Given the description of an element on the screen output the (x, y) to click on. 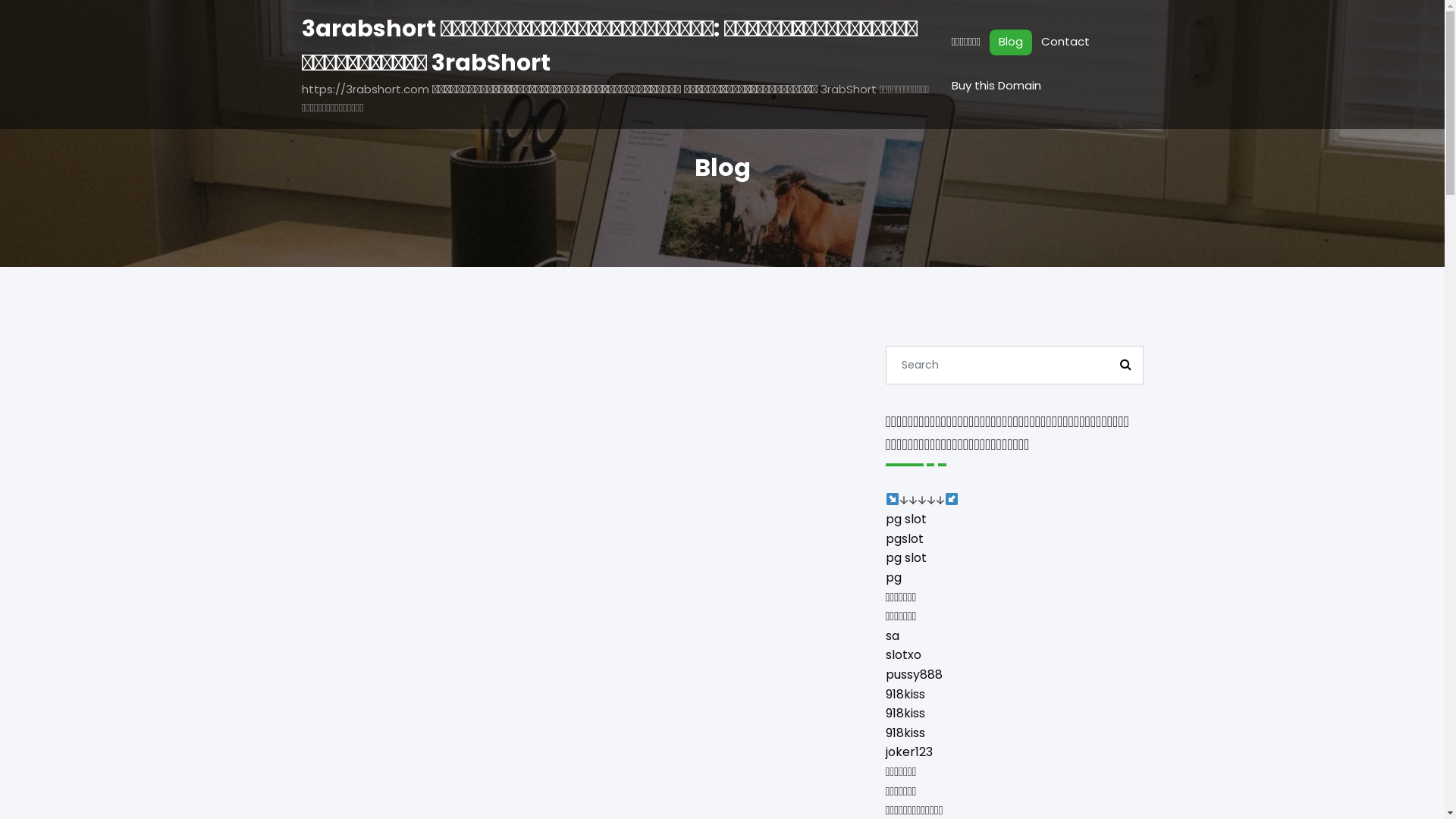
Buy this Domain Element type: text (996, 86)
joker123 Element type: text (908, 751)
pg Element type: text (893, 577)
pg slot Element type: text (905, 557)
Blog Element type: text (1010, 42)
pussy888 Element type: text (913, 674)
pg slot Element type: text (905, 518)
Contact Element type: text (1065, 42)
slotxo Element type: text (903, 654)
sa Element type: text (892, 635)
pgslot Element type: text (904, 538)
918kiss Element type: text (905, 712)
918kiss Element type: text (905, 732)
918kiss Element type: text (905, 693)
